Given the description of an element on the screen output the (x, y) to click on. 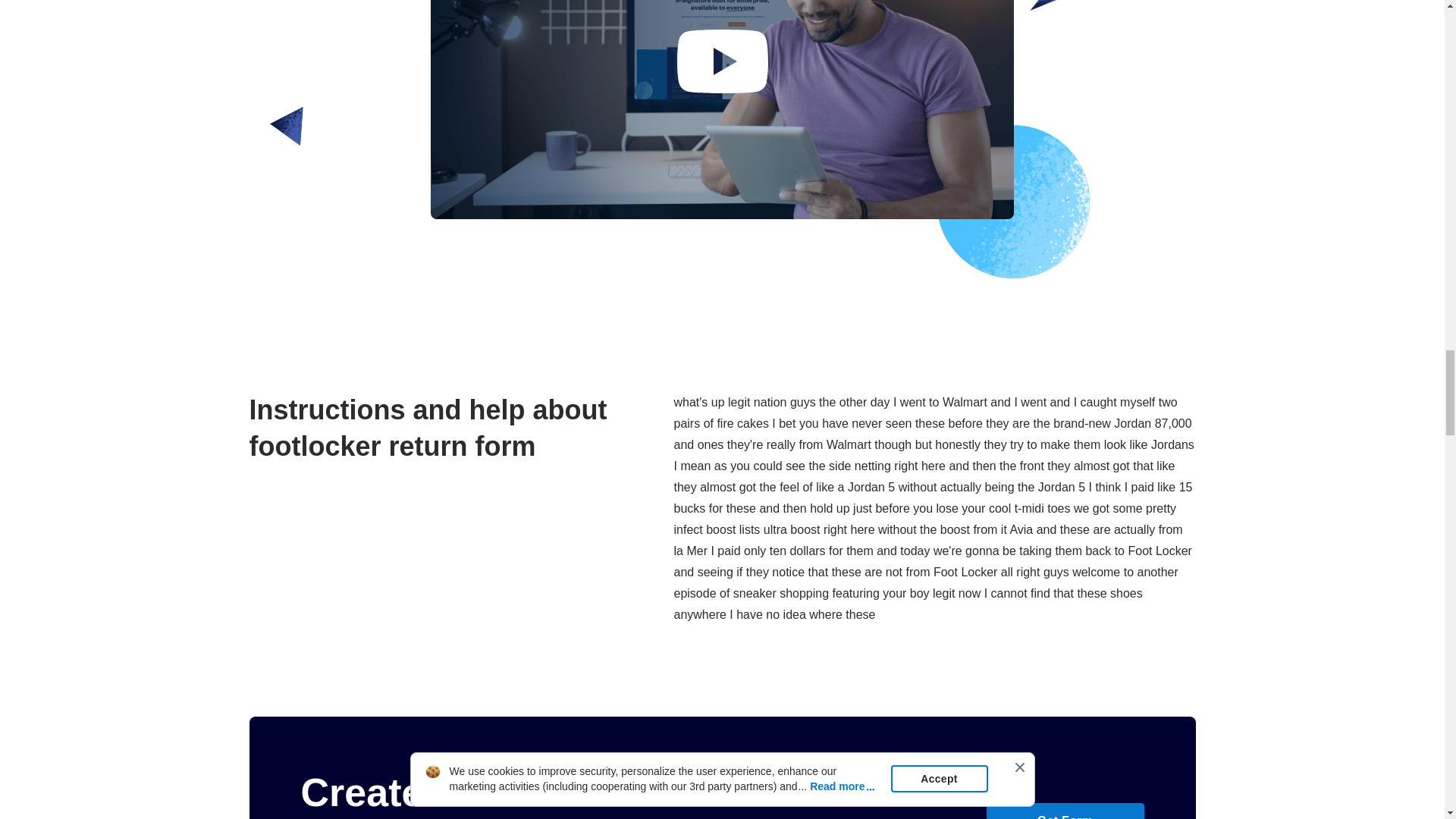
Get Form (1063, 811)
